Given the description of an element on the screen output the (x, y) to click on. 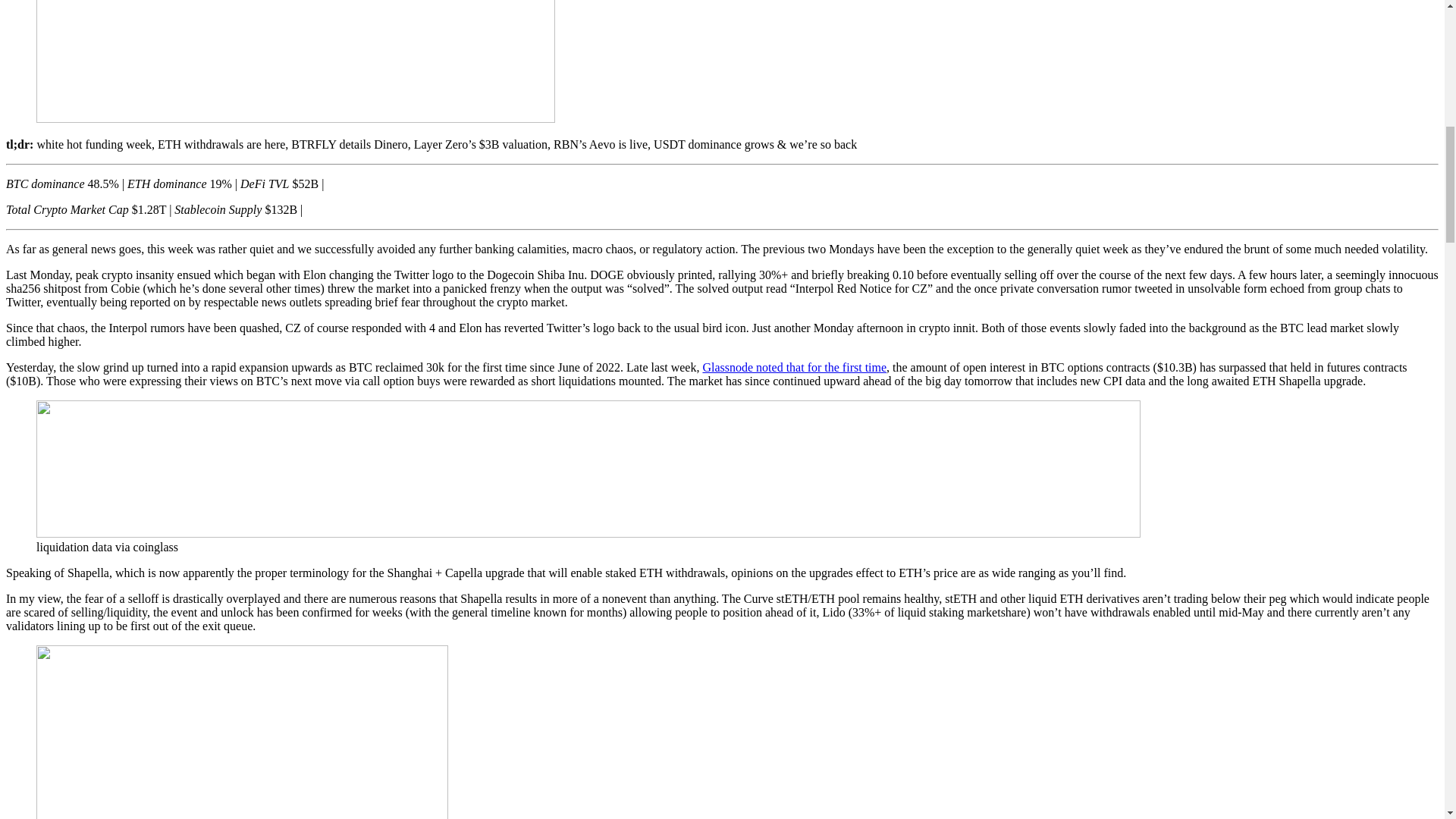
Glassnode noted that for the first time (793, 367)
